Given the description of an element on the screen output the (x, y) to click on. 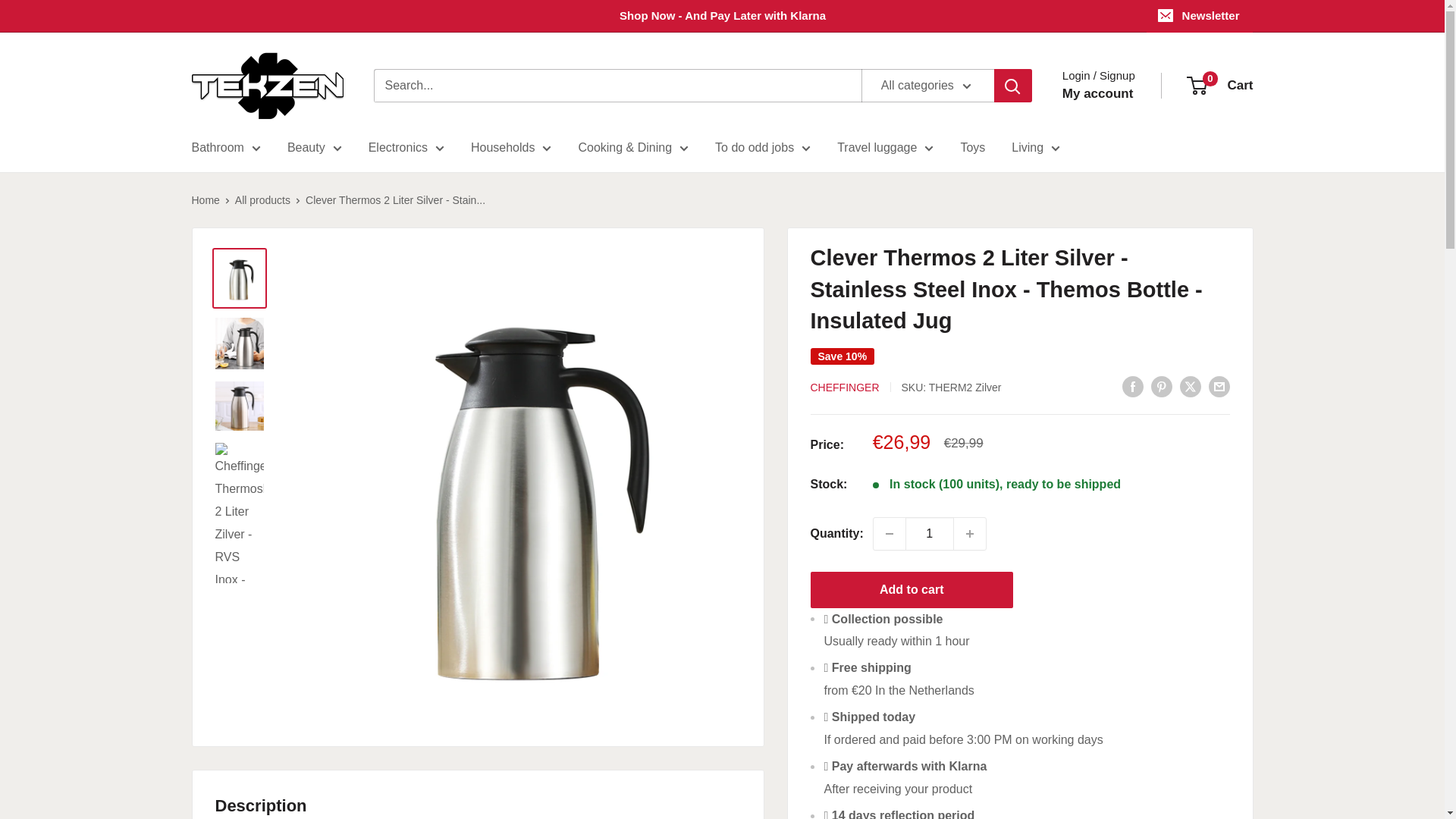
1 (929, 533)
Newsletter (1200, 15)
Decrease quantity by 1 (889, 533)
Shop Now - And Pay Later with Klarna (668, 15)
Increase quantity by 1 (969, 533)
